Given the description of an element on the screen output the (x, y) to click on. 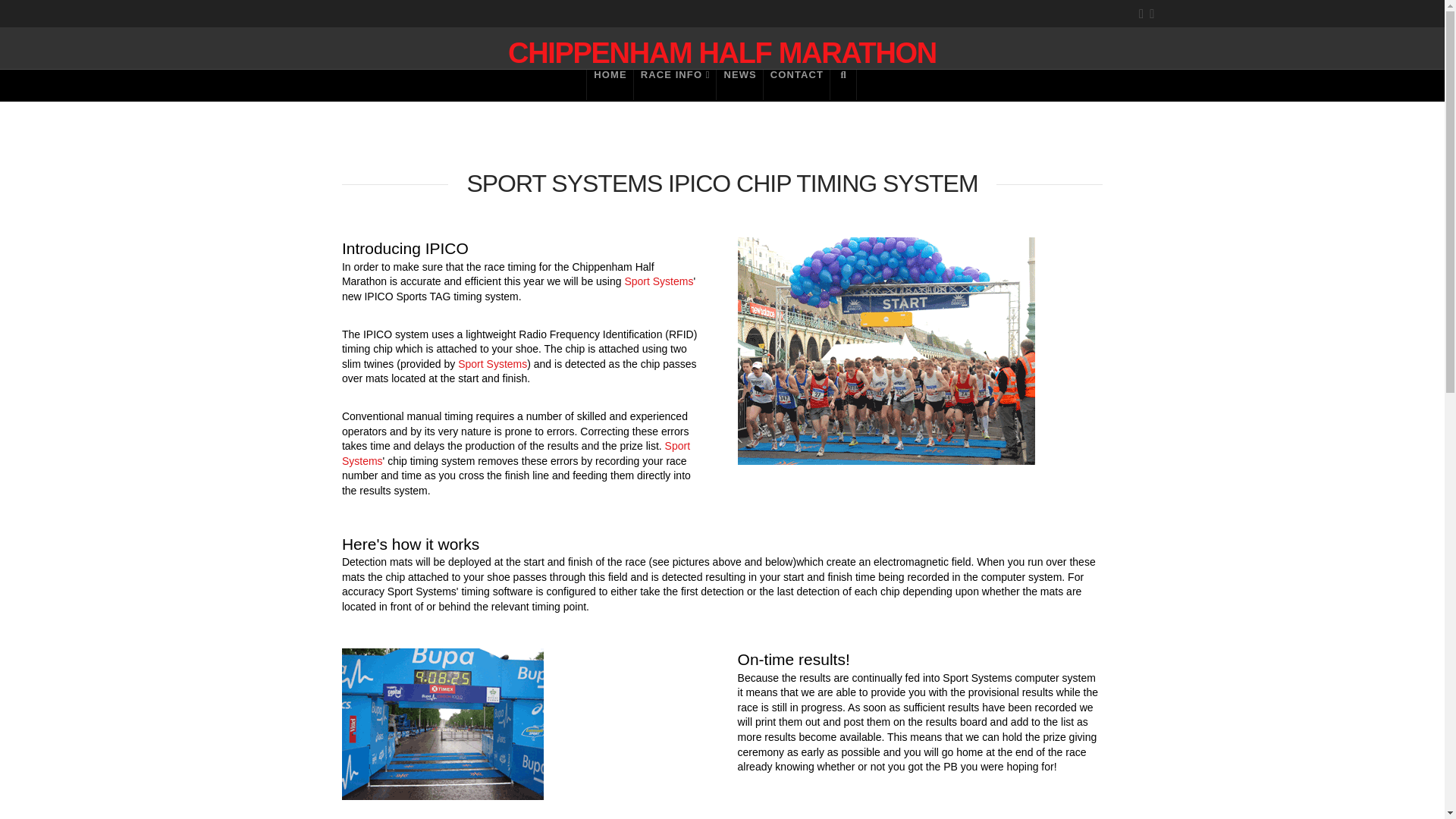
CHIPPENHAM HALF MARATHON (722, 52)
Entry services and chip timing powered by Sport Systems (658, 281)
Sport Systems (492, 363)
Entry services and chip timing powered by Sport Systems (492, 363)
Entry services and chip timing powered by Sport Systems (516, 452)
Sport Systems (516, 452)
NEWS (739, 84)
RACE INFO (675, 84)
HOME (609, 84)
Sport Systems (658, 281)
CONTACT (795, 84)
